Given the description of an element on the screen output the (x, y) to click on. 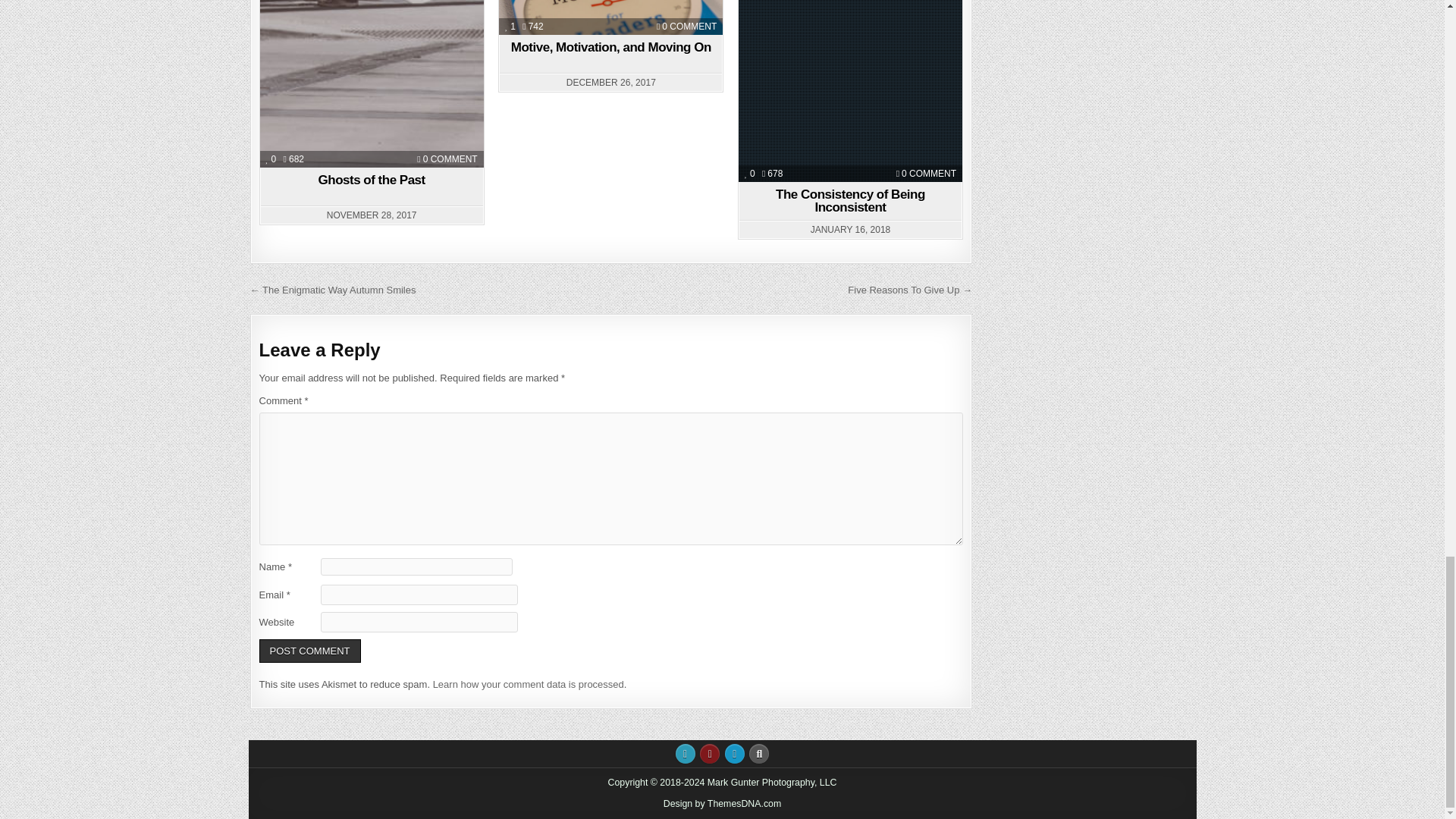
Post Comment (310, 650)
682 Views (293, 158)
Ghosts of the Past (371, 179)
Permanent Link to Ghosts of the Past (371, 83)
0 (450, 158)
1 (271, 158)
Like this (510, 26)
